Given the description of an element on the screen output the (x, y) to click on. 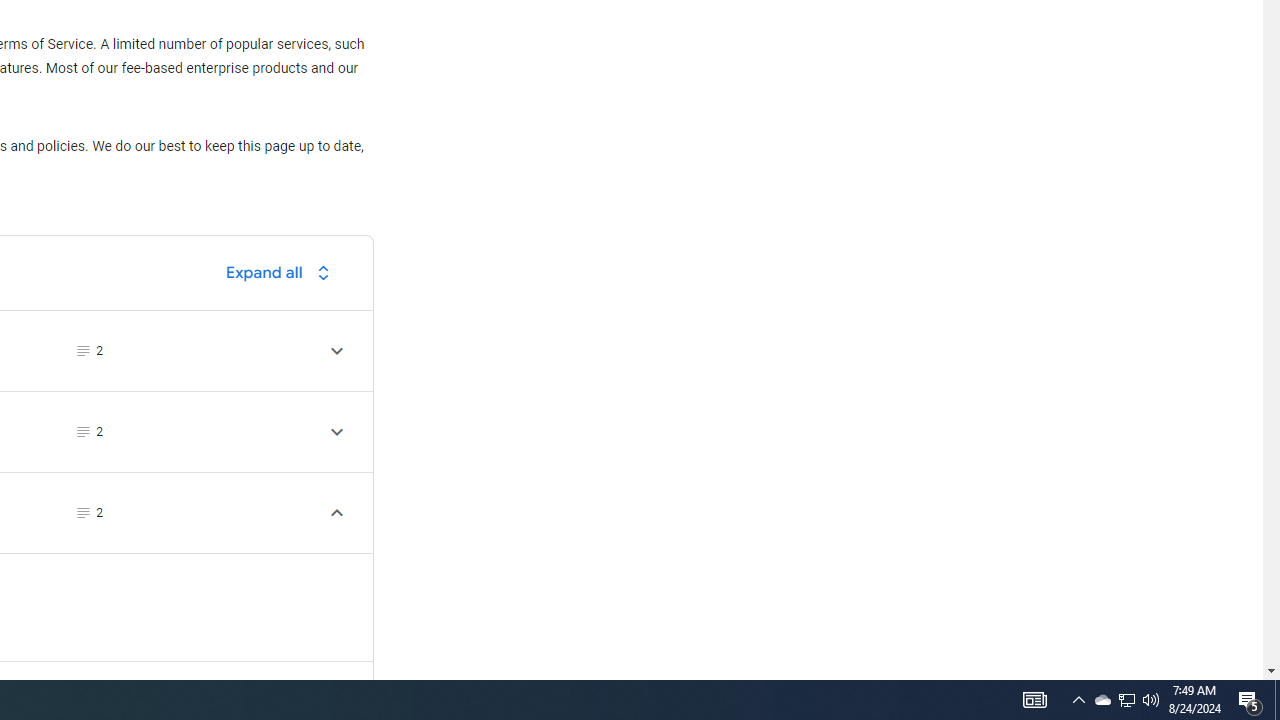
Expand all (283, 272)
